Given the description of an element on the screen output the (x, y) to click on. 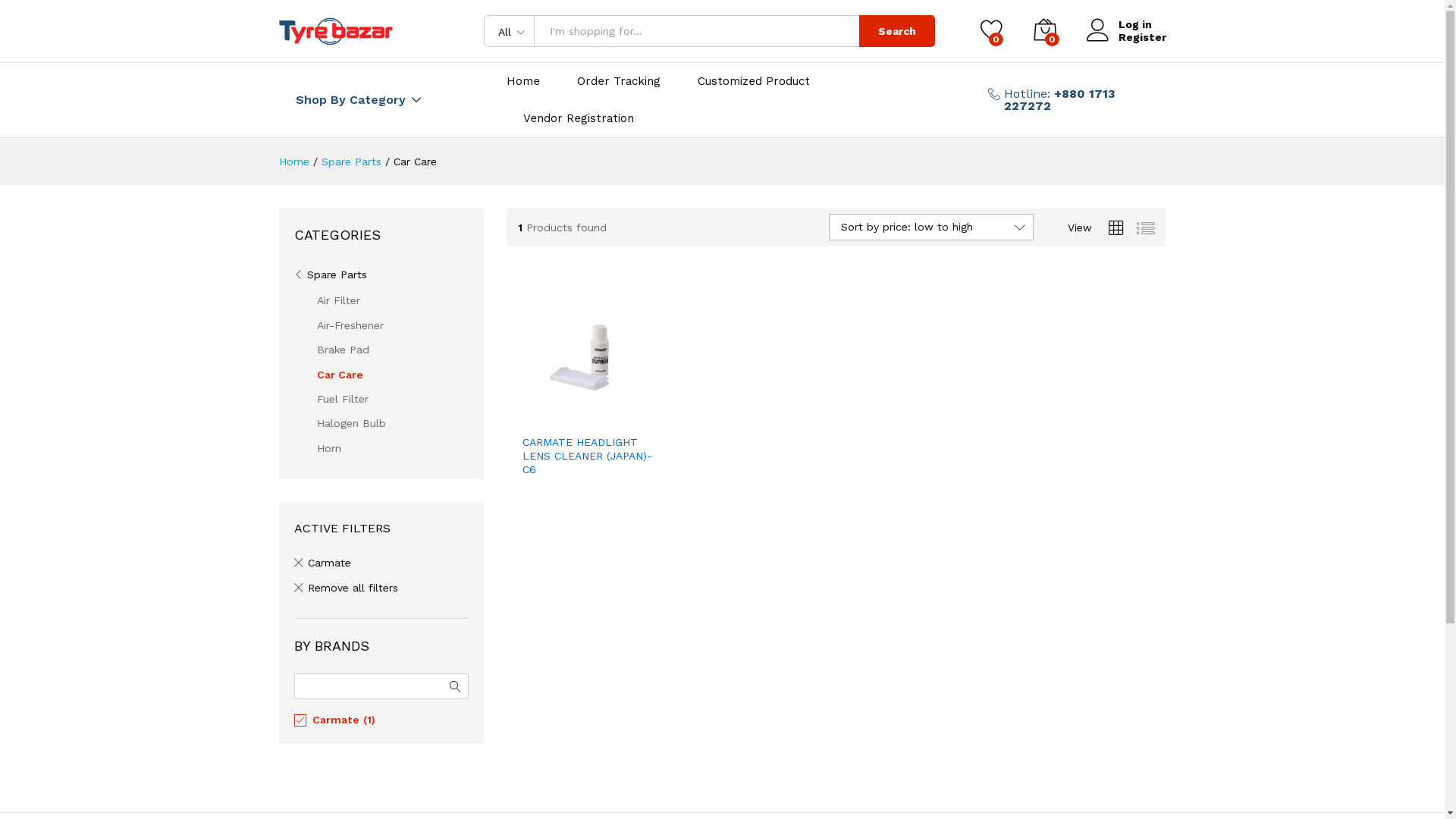
Home Element type: text (294, 161)
Sort by price: low to high Element type: text (997, 321)
Customized Product Element type: text (753, 81)
Remove all filters Element type: text (346, 587)
Car Care Element type: text (339, 374)
Spare Parts Element type: text (330, 274)
Sort by average rating Element type: text (987, 321)
0 Element type: text (990, 30)
Home Element type: text (522, 81)
CARMATE HEADLIGHT LENS CLEANER (JAPAN)-C6 Element type: text (588, 455)
Air-Freshener Element type: text (349, 325)
Horn Element type: text (328, 448)
Register Element type: text (1125, 37)
Air Filter Element type: text (338, 300)
0 Element type: text (1043, 30)
Carmate Element type: text (335, 719)
Vendor Registration Element type: text (578, 118)
Log in Element type: text (1125, 24)
Spare Parts Element type: text (351, 161)
Carmate Element type: text (322, 562)
Halogen Bulb Element type: text (350, 423)
Brake Pad Element type: text (342, 349)
Sort by popularity Element type: text (977, 321)
Order Tracking Element type: text (617, 81)
Default sorting Element type: text (969, 321)
Fuel Filter Element type: text (342, 398)
Search Element type: text (896, 31)
Sort by latest Element type: text (966, 321)
